Given the description of an element on the screen output the (x, y) to click on. 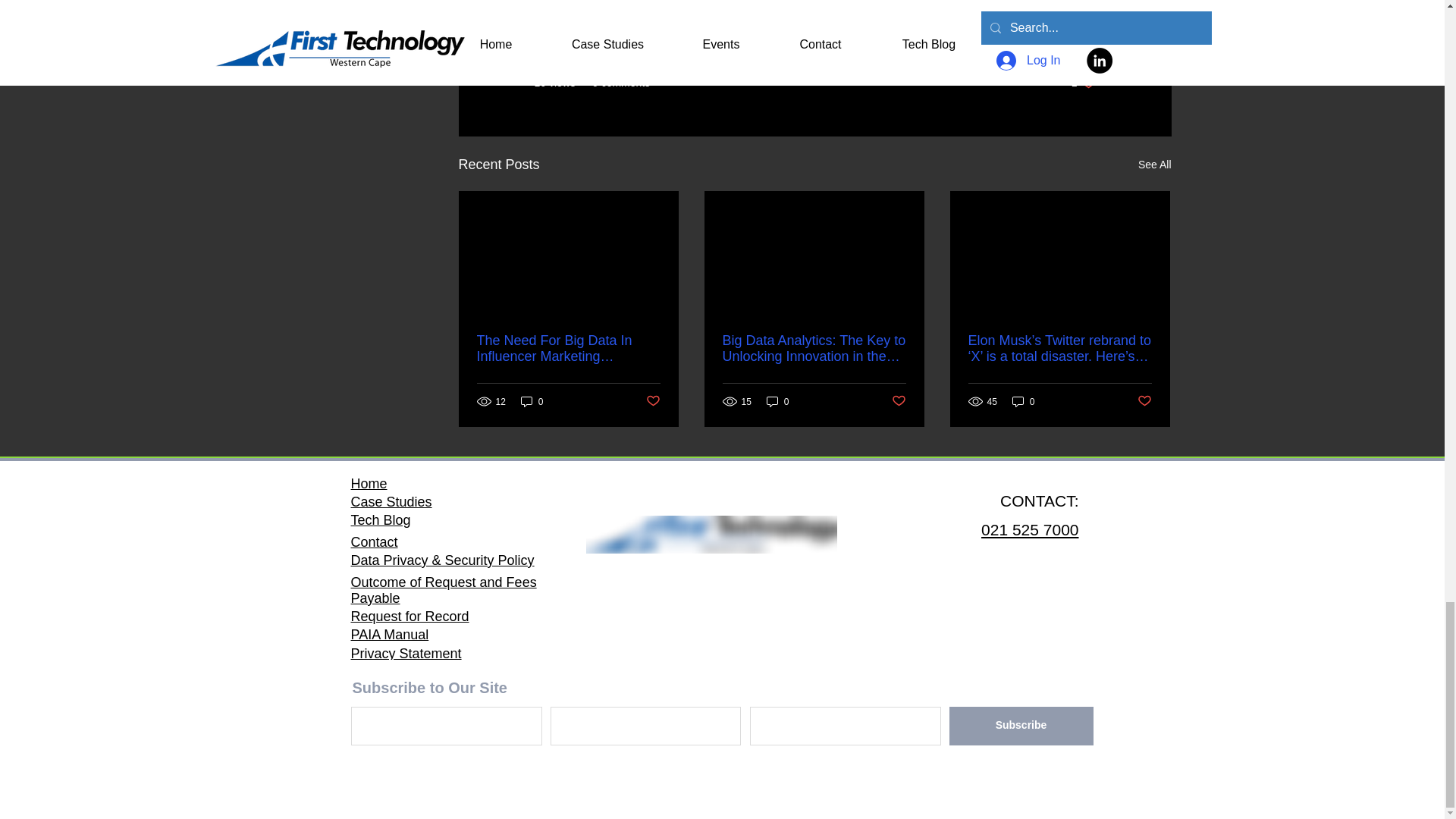
0 (777, 400)
See All (1155, 164)
The Need For Big Data In Influencer Marketing Strategies (567, 348)
0 (531, 400)
Articles (1078, 37)
Post not marked as liked (898, 401)
Post not marked as liked (1144, 401)
Post not marked as liked (653, 401)
Case Studies (390, 501)
Home (368, 483)
0 (1083, 83)
Tech Blog (1023, 400)
